Given the description of an element on the screen output the (x, y) to click on. 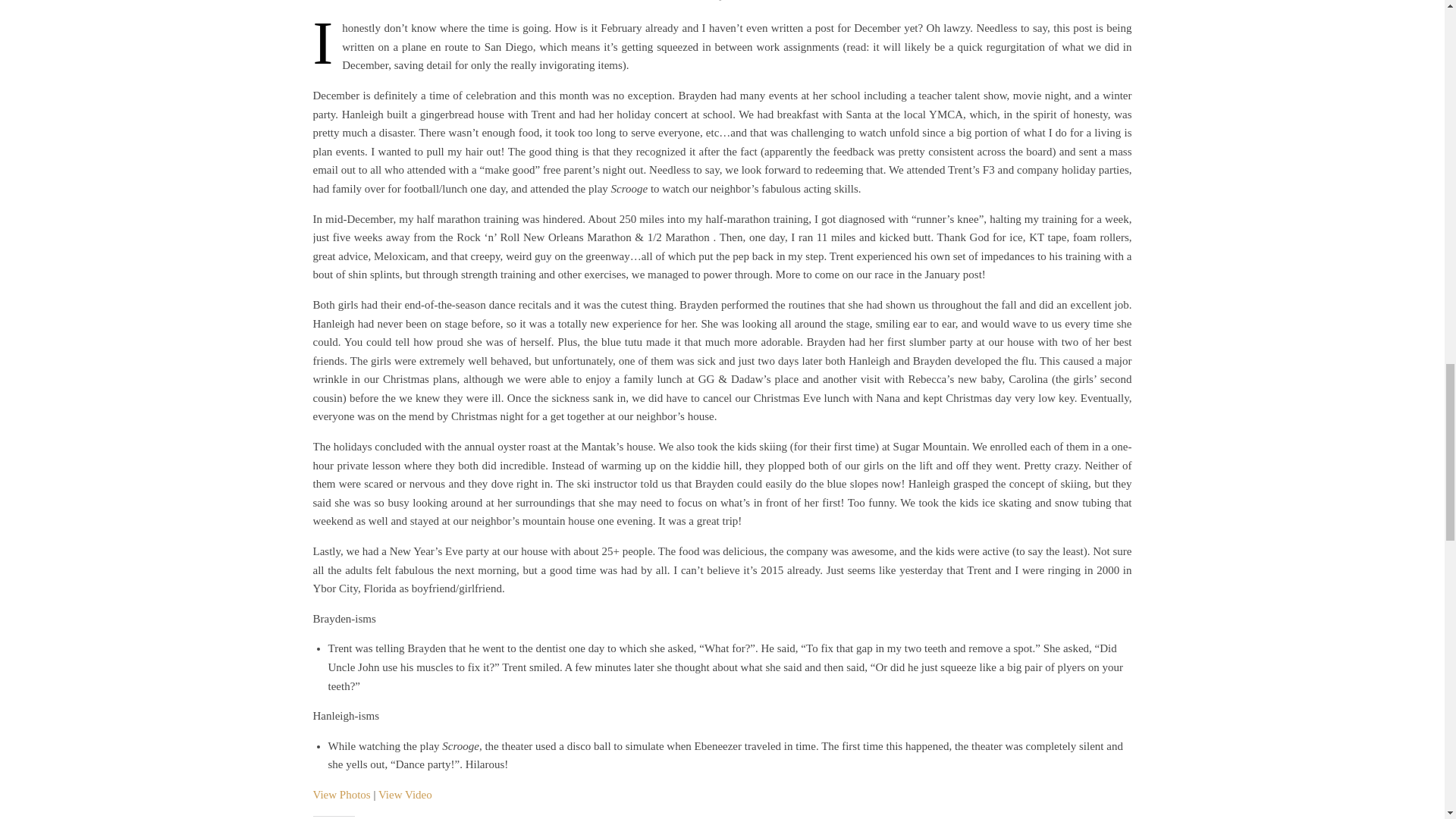
View Photos (341, 794)
View Video (405, 794)
View Photos (341, 794)
View Video (405, 794)
